Given the description of an element on the screen output the (x, y) to click on. 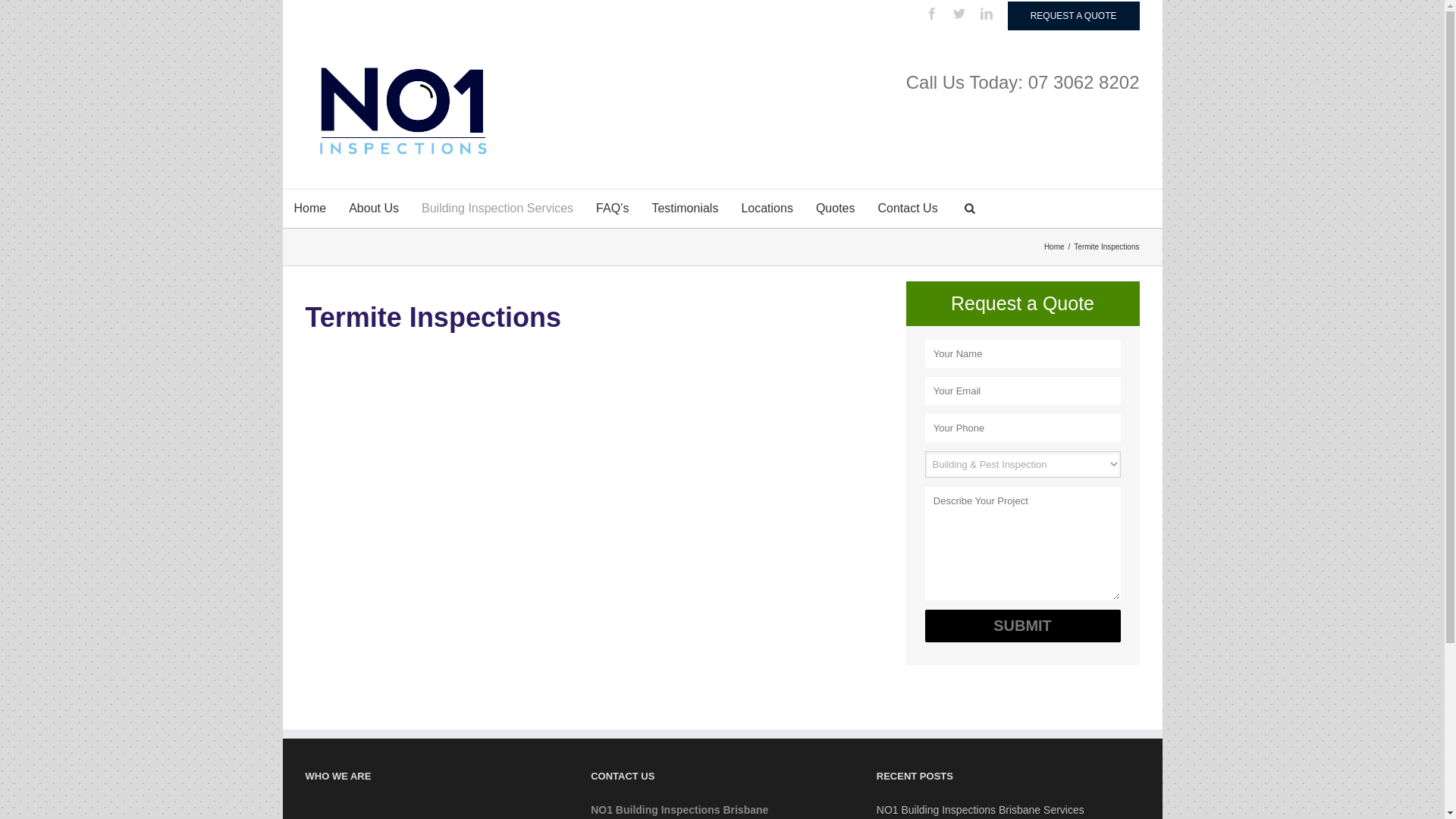
Quotes Element type: text (835, 208)
Twitter Element type: hover (959, 13)
Facebook Element type: hover (931, 13)
Building Inspection Services Element type: text (497, 208)
Linkedin Element type: hover (986, 13)
Home Element type: text (1056, 246)
REQUEST A QUOTE Element type: text (1073, 15)
About Us Element type: text (373, 208)
Home Element type: text (309, 208)
Testimonials Element type: text (684, 208)
NO1 Building Inspections Brisbane Services Element type: text (1007, 810)
Contact Us Element type: text (907, 208)
Locations Element type: text (766, 208)
SUBMIT Element type: text (1022, 625)
